Given the description of an element on the screen output the (x, y) to click on. 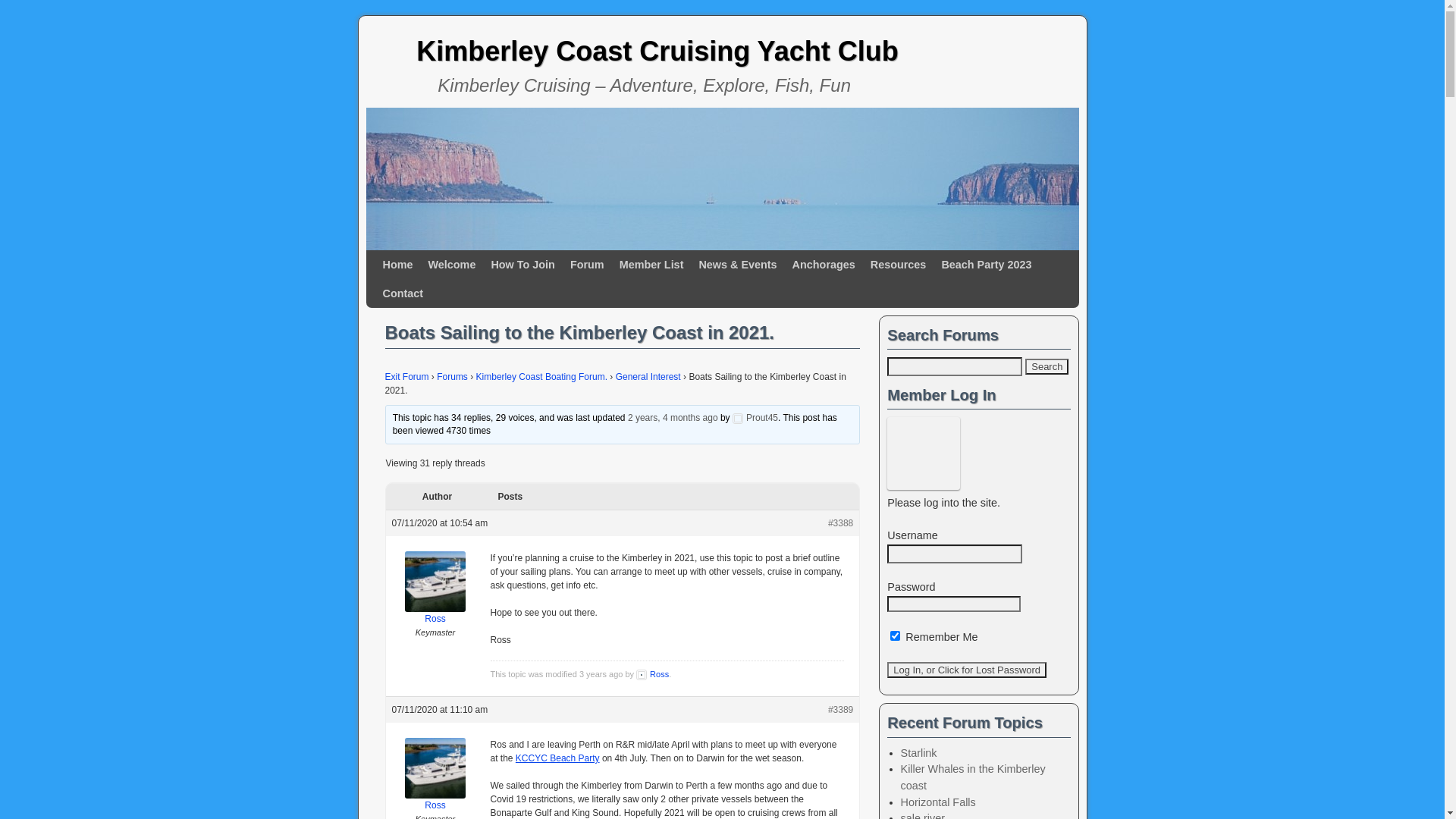
Log In, or Click for Lost Password Element type: text (966, 669)
2 years, 4 months ago Element type: text (672, 417)
Forums Element type: text (451, 376)
Welcome Element type: text (451, 264)
Starlink Element type: text (918, 752)
Search Element type: text (1046, 366)
Resources Element type: text (898, 264)
Killer Whales in the Kimberley coast Element type: text (972, 776)
#3389 Element type: text (840, 709)
Member List Element type: text (651, 264)
General Interest Element type: text (647, 376)
Contact Element type: text (402, 293)
Beach Party 2023 Element type: text (985, 264)
Kimberley Coast Cruising Yacht Club Element type: text (656, 50)
News & Events Element type: text (737, 264)
Kimberley Coast Boating Forum. Element type: text (541, 376)
#3388 Element type: text (840, 523)
Ross Element type: text (652, 673)
Forum Element type: text (586, 264)
Skip to primary content Element type: text (411, 256)
How To Join Element type: text (522, 264)
Exit Forum Element type: text (407, 376)
Home Element type: text (397, 264)
Ross Element type: text (434, 774)
Ross Element type: text (434, 588)
Horizontal Falls Element type: text (937, 802)
KCCYC Beach Party Element type: text (557, 758)
Anchorages Element type: text (823, 264)
Skip to secondary content Element type: text (417, 256)
Prout45 Element type: text (755, 417)
